Given the description of an element on the screen output the (x, y) to click on. 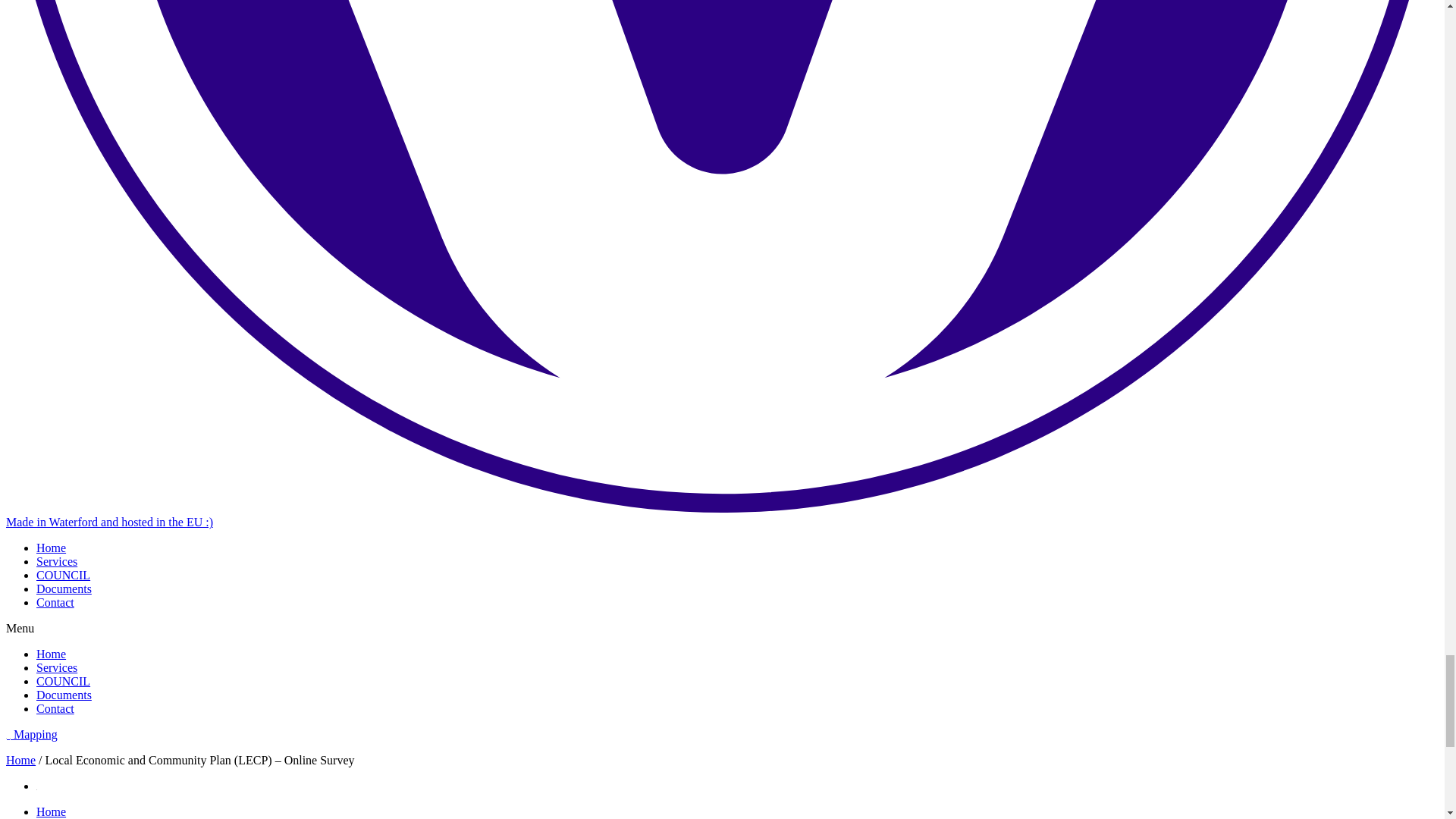
COUNCIL (63, 574)
Services (56, 561)
Home (50, 547)
